Given the description of an element on the screen output the (x, y) to click on. 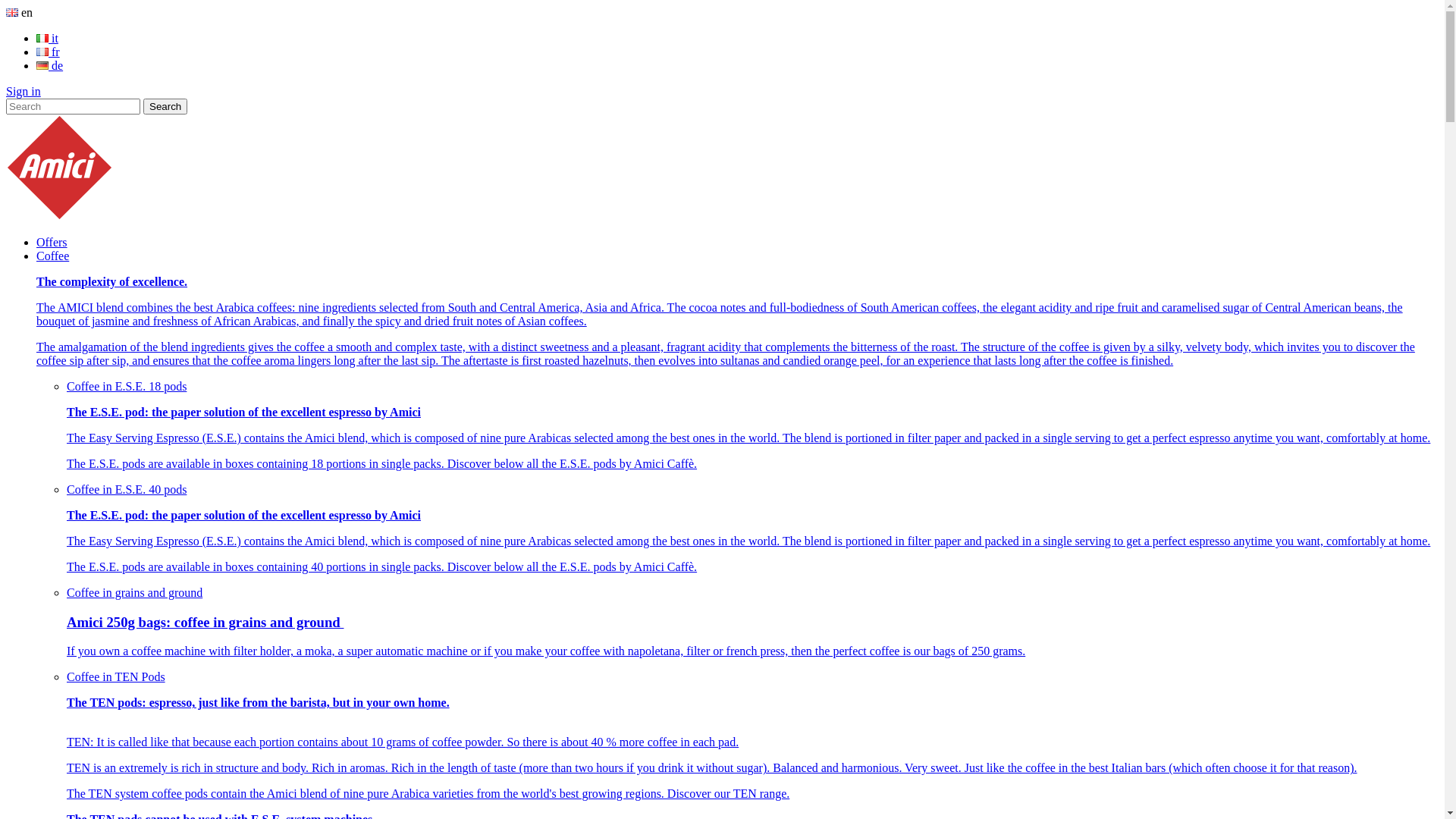
de Element type: text (49, 65)
Offers Element type: text (51, 241)
Search Element type: text (165, 106)
Sign in Element type: text (23, 90)
fr Element type: text (47, 51)
it Element type: text (47, 37)
